Given the description of an element on the screen output the (x, y) to click on. 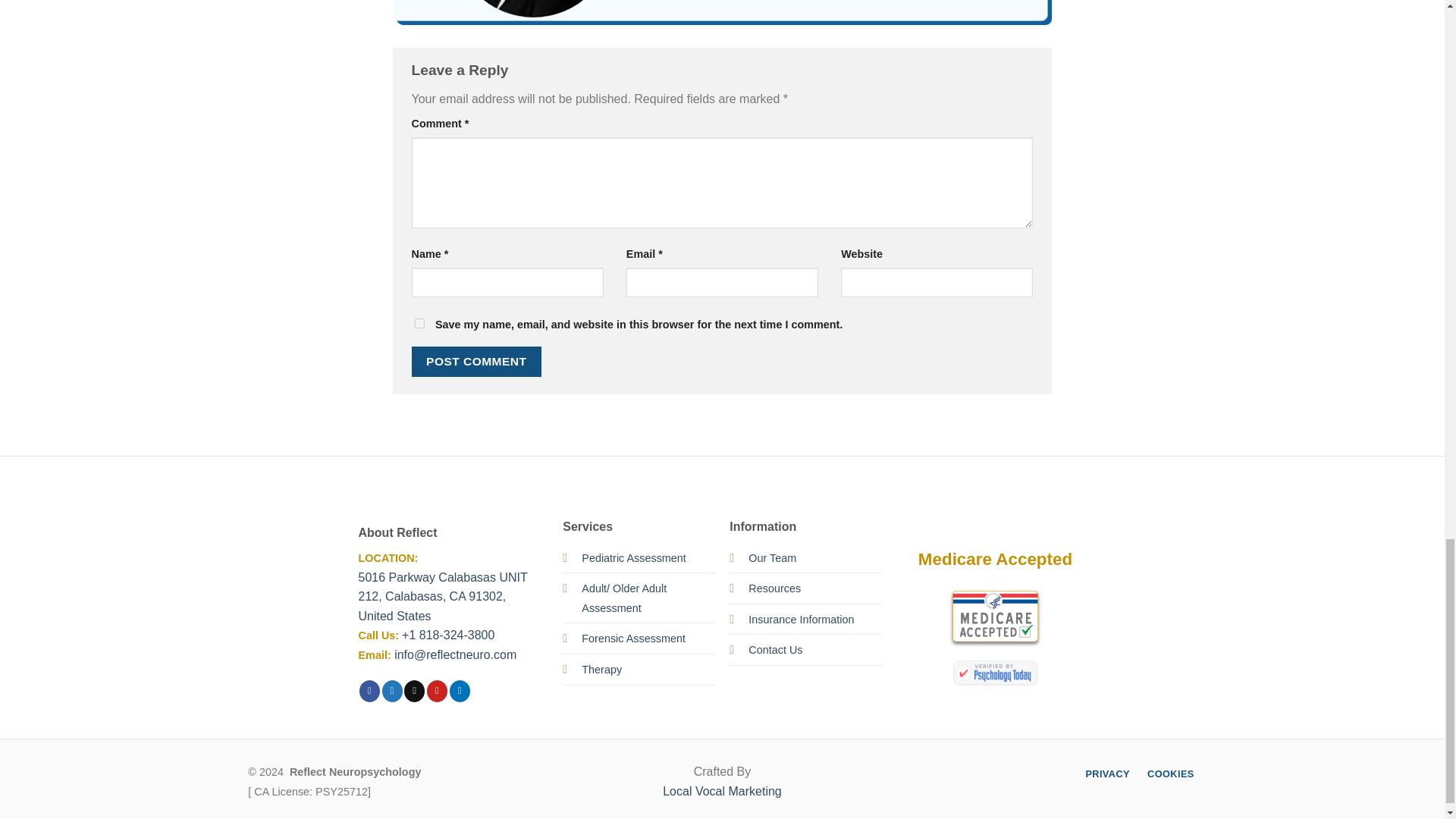
Email to a Friend (414, 690)
Post Comment (475, 360)
Share on Facebook (369, 690)
Pin on Pinterest (436, 690)
Share on LinkedIn (459, 690)
Share on Twitter (392, 690)
Post Comment (475, 360)
yes (418, 323)
